Given the description of an element on the screen output the (x, y) to click on. 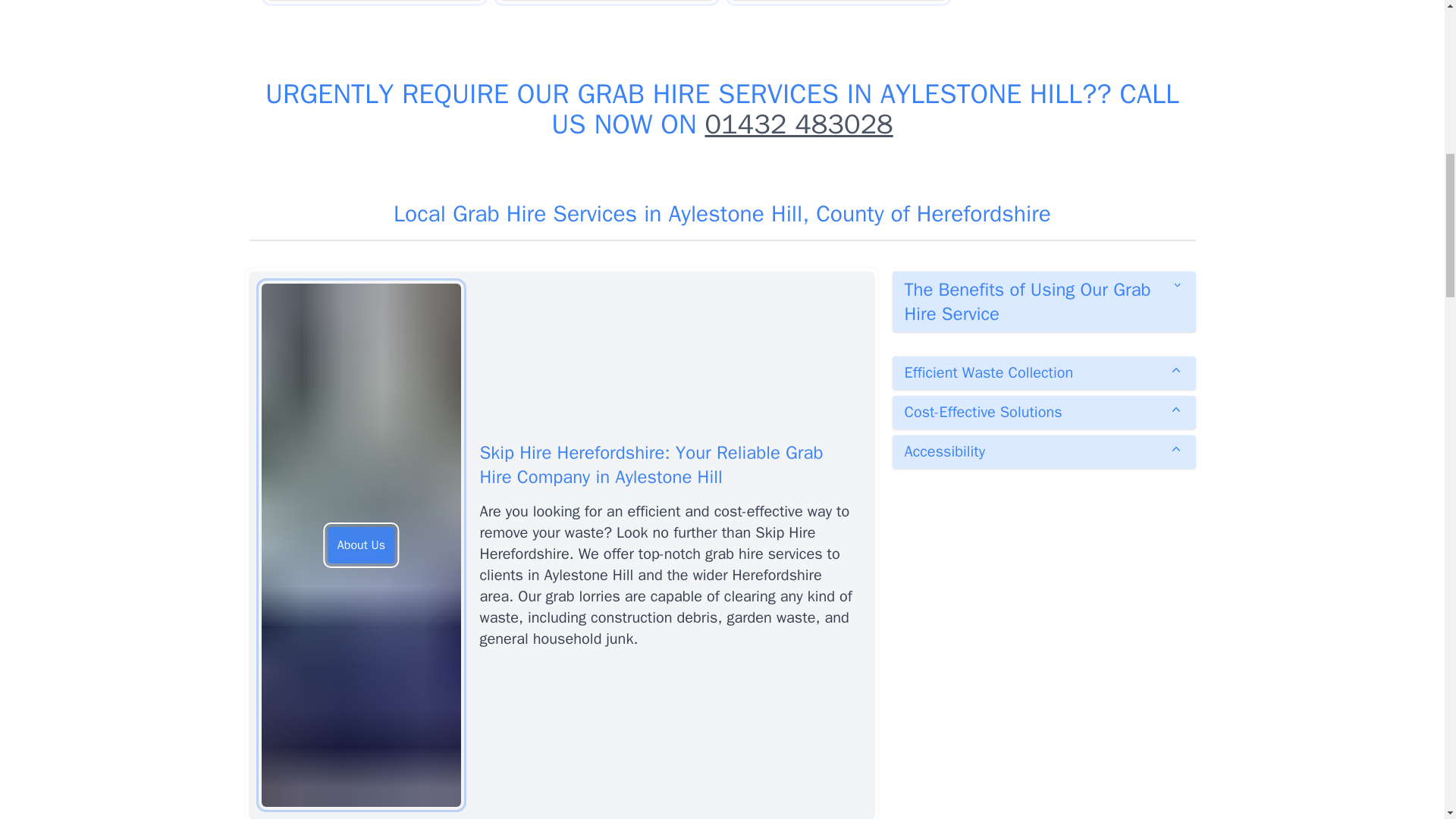
The Benefits of Using Our Grab Hire Service (1043, 301)
Efficient Waste Collection (1043, 372)
01432 483028 (798, 124)
About Us (361, 545)
Accessibility (1043, 451)
Cost-Effective Solutions (1043, 412)
